Given the description of an element on the screen output the (x, y) to click on. 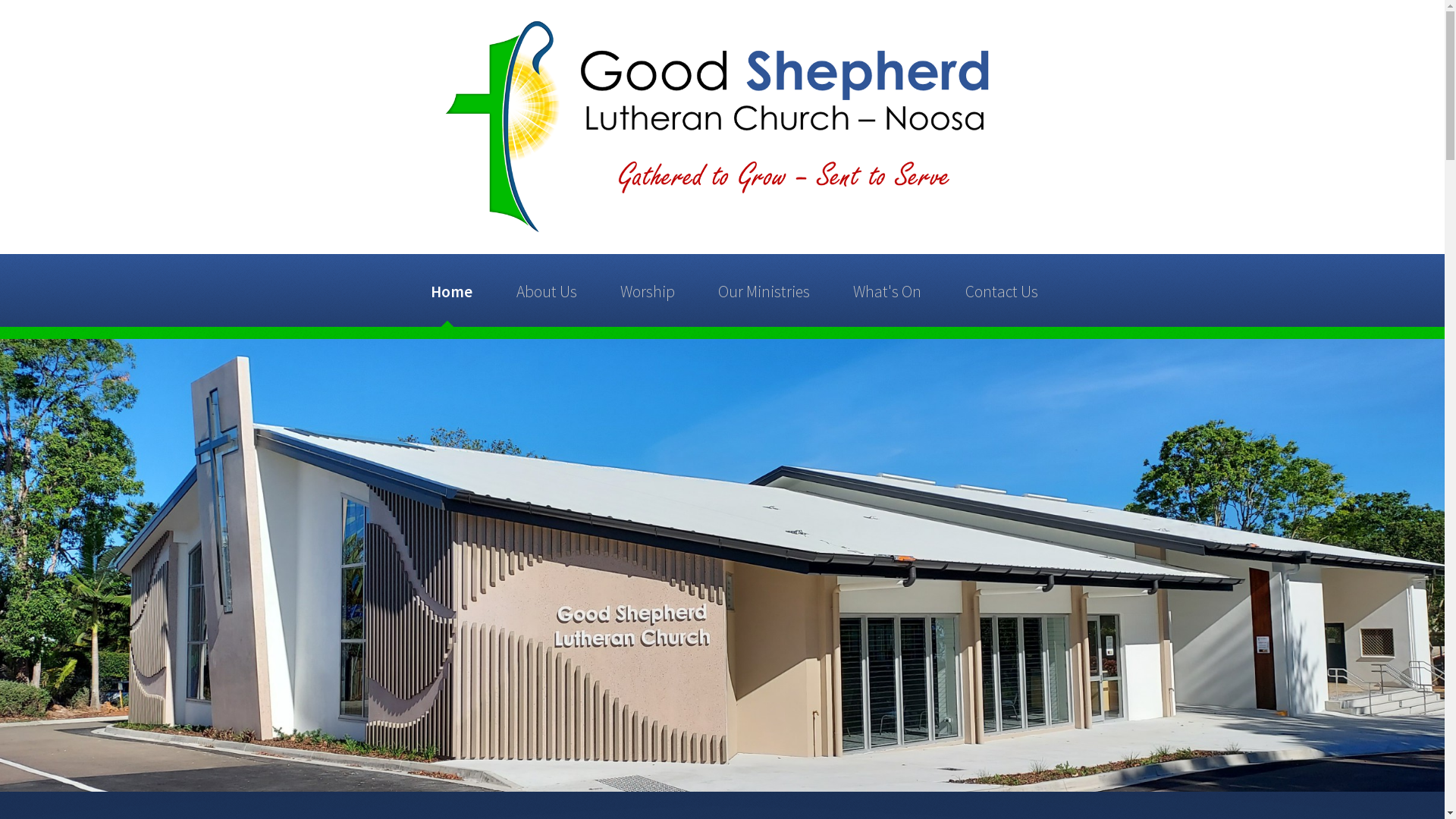
Home Element type: text (451, 290)
Contact Us Element type: text (1001, 290)
What's On Element type: text (887, 290)
Our Ministries Element type: text (763, 290)
Worship Element type: text (646, 290)
About Us Element type: text (546, 290)
